Given the description of an element on the screen output the (x, y) to click on. 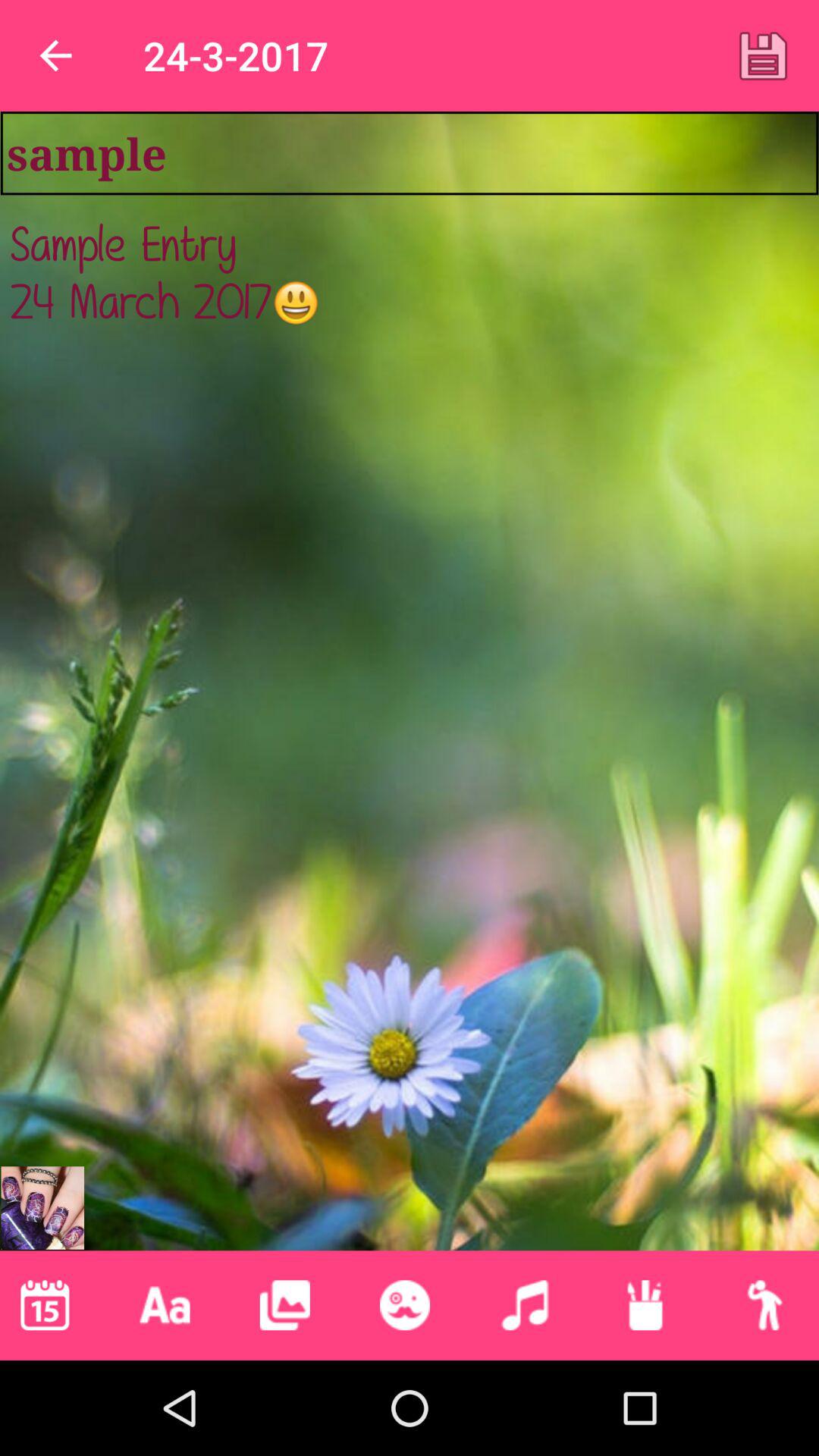
activate emoji (404, 1305)
